Given the description of an element on the screen output the (x, y) to click on. 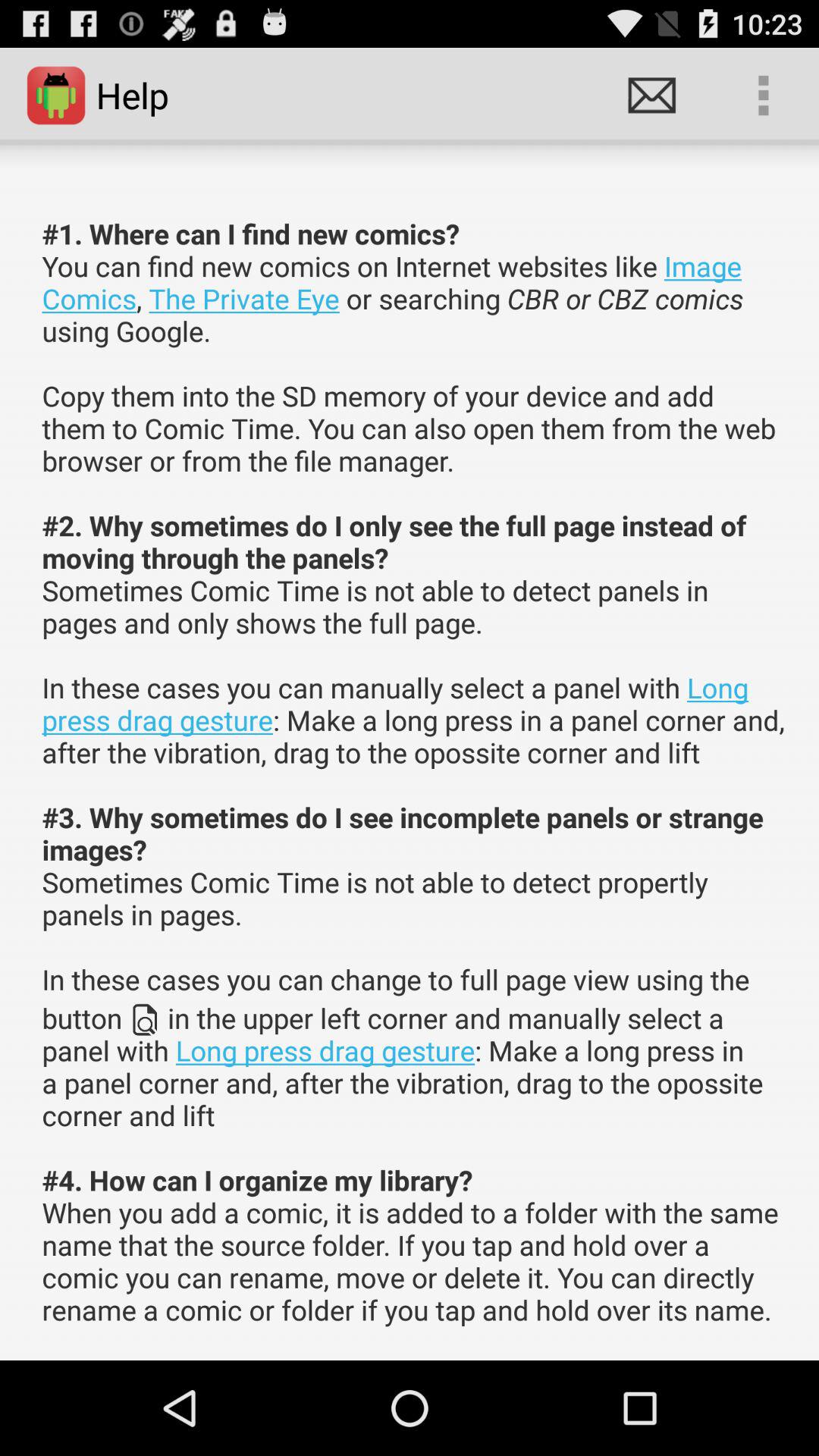
turn off app next to help item (651, 95)
